Given the description of an element on the screen output the (x, y) to click on. 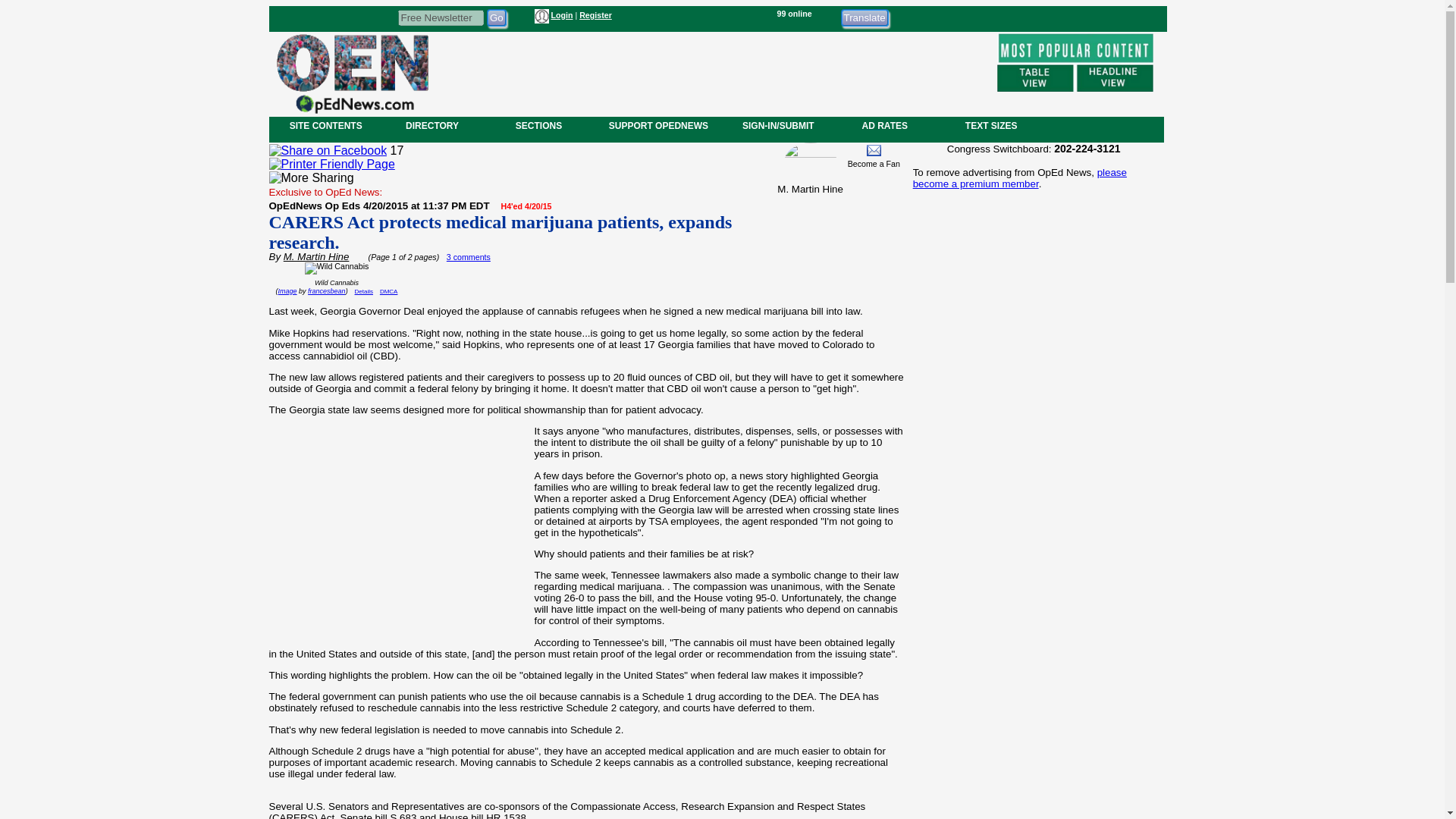
AD RATES (884, 125)
Wild Cannabis (336, 270)
Report Copyright Violation (388, 291)
Image (287, 290)
Share on Facebook (327, 151)
SECTIONS (537, 125)
Translate (864, 17)
francesbean (326, 290)
Become a Fan (873, 163)
